Given the description of an element on the screen output the (x, y) to click on. 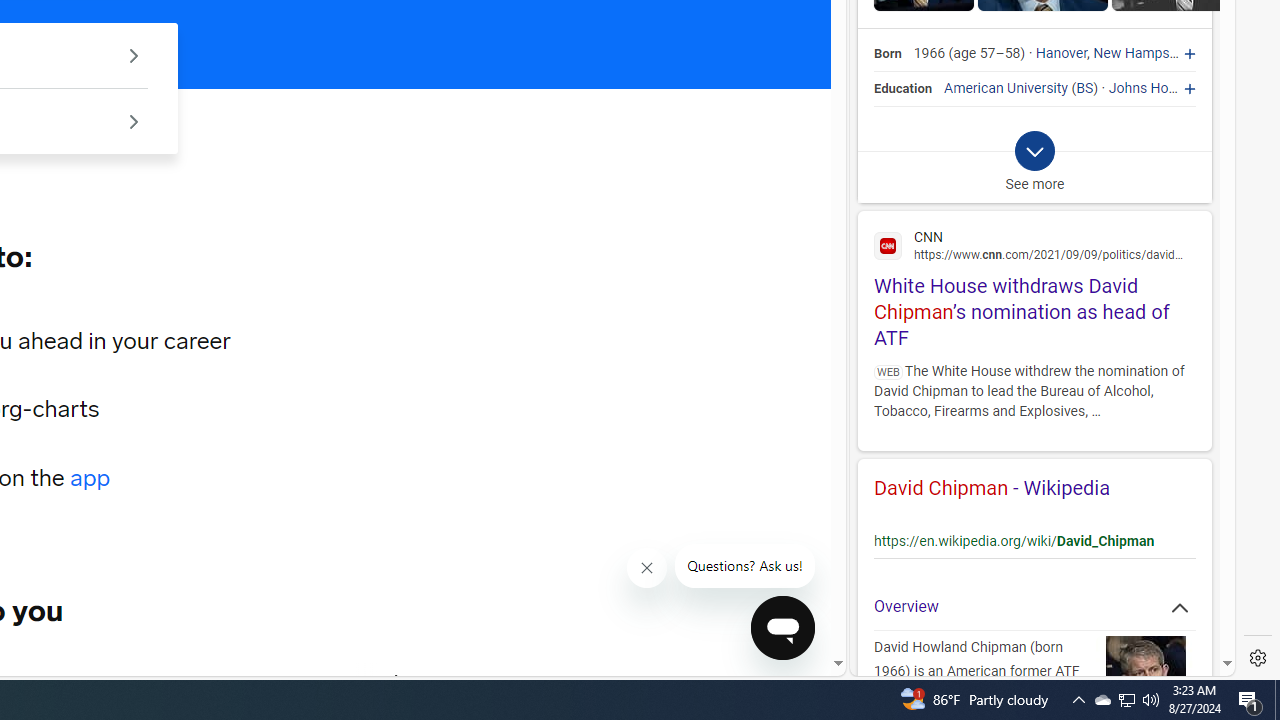
app (90, 477)
New Hampshire (1142, 53)
Class: sc-1uf0igr-1 fjHZYk (646, 568)
See group offers (133, 120)
Questions? Ask us! (745, 566)
Johns Hopkins University (1187, 88)
Close message from company (647, 567)
